Given the description of an element on the screen output the (x, y) to click on. 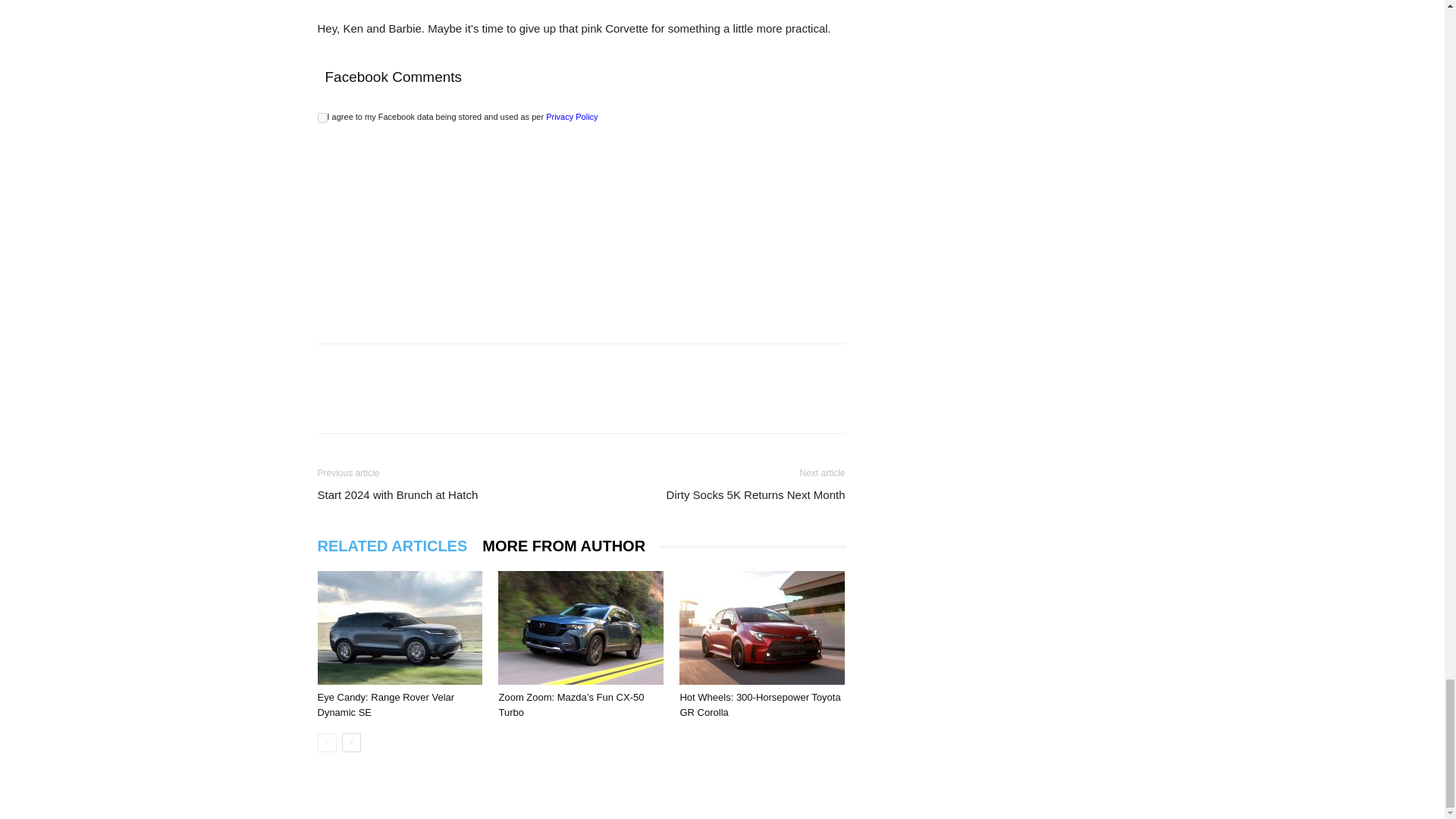
Eye Candy: Range Rover Velar Dynamic SE (385, 704)
Hot Wheels: 300-Horsepower Toyota GR Corolla (761, 627)
Eye Candy: Range Rover Velar Dynamic SE (399, 627)
1 (321, 117)
